Given the description of an element on the screen output the (x, y) to click on. 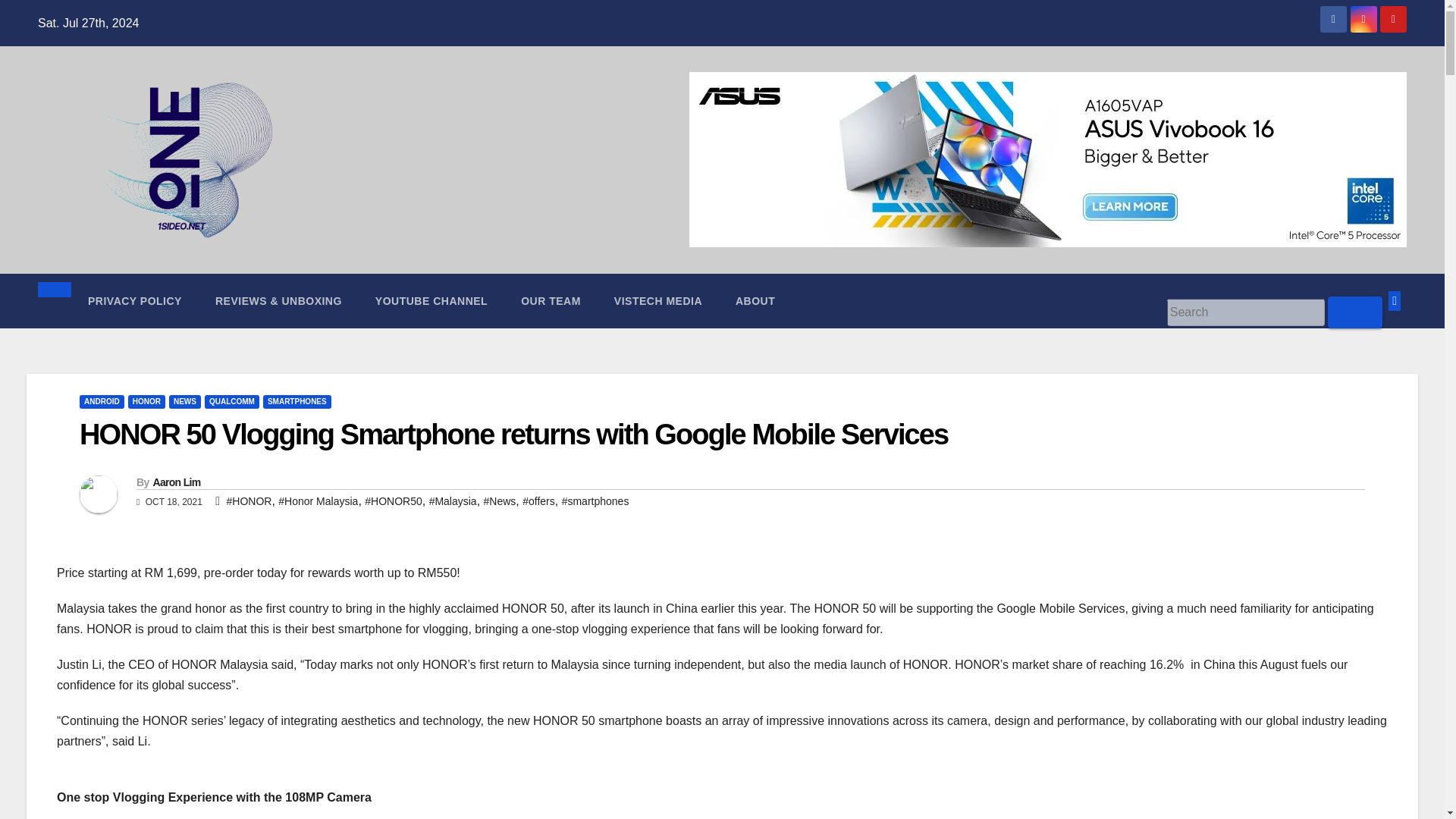
PRIVACY POLICY (134, 300)
Aaron Lim (176, 481)
Privacy Policy (134, 300)
SMARTPHONES (297, 401)
YouTube Channel (430, 300)
Our Team (549, 300)
NEWS (184, 401)
HONOR (146, 401)
YOUTUBE CHANNEL (430, 300)
VISTECH MEDIA (657, 300)
QUALCOMM (232, 401)
ABOUT (755, 300)
OUR TEAM (549, 300)
